Given the description of an element on the screen output the (x, y) to click on. 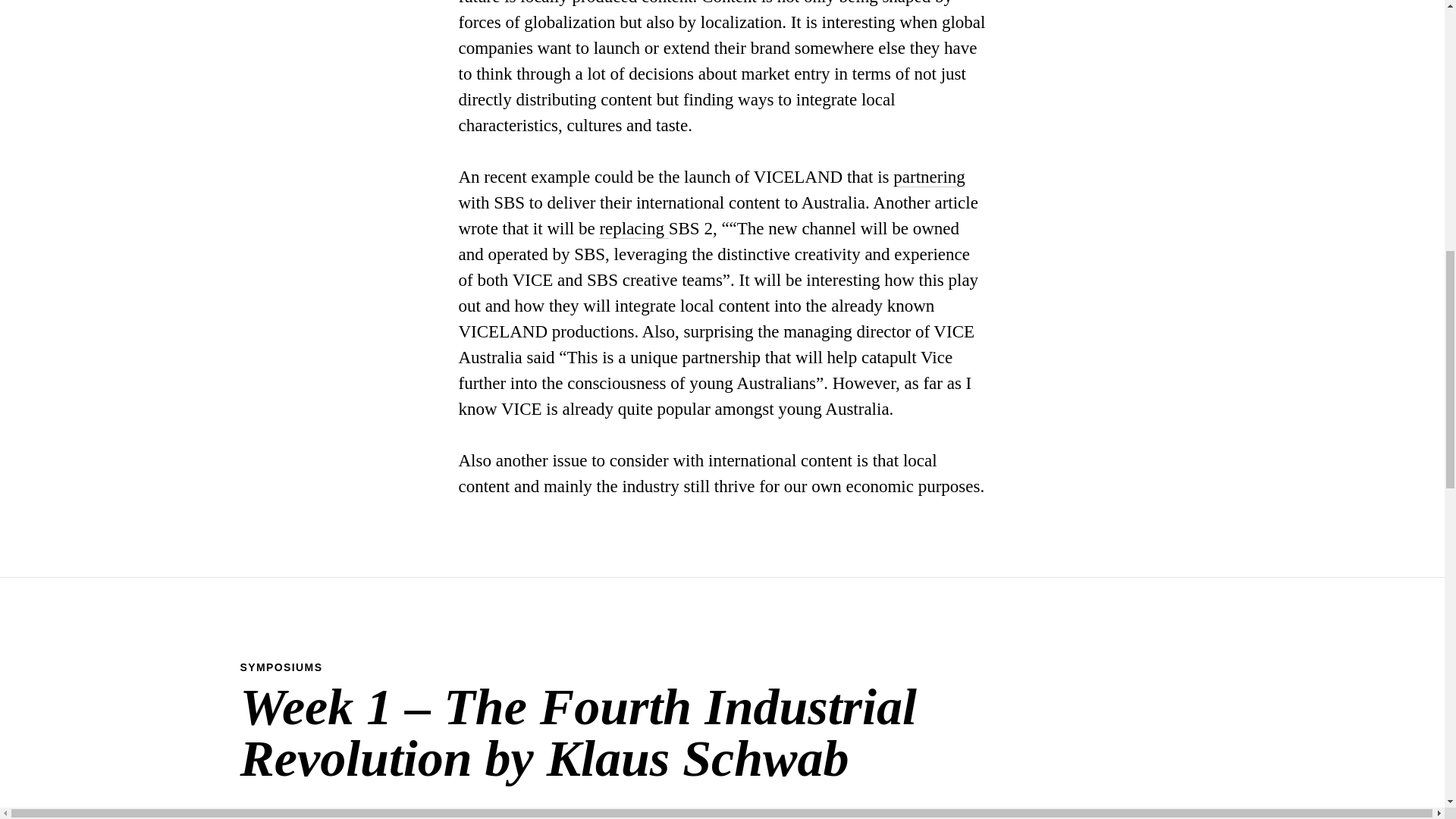
JULY 21, 2016 (278, 817)
replacing (633, 229)
partnering (929, 177)
SYMPOSIUMS (280, 666)
11:29 pm (278, 817)
